Given the description of an element on the screen output the (x, y) to click on. 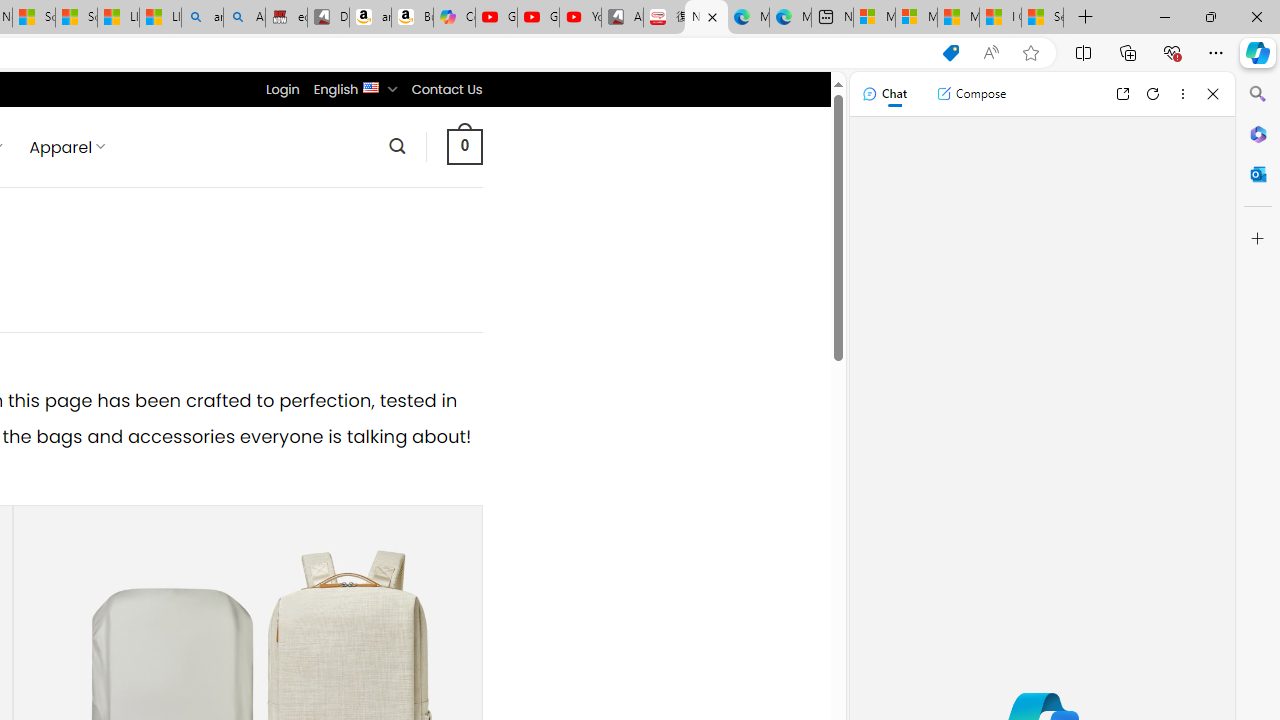
English (371, 86)
Chat (884, 93)
